Given the description of an element on the screen output the (x, y) to click on. 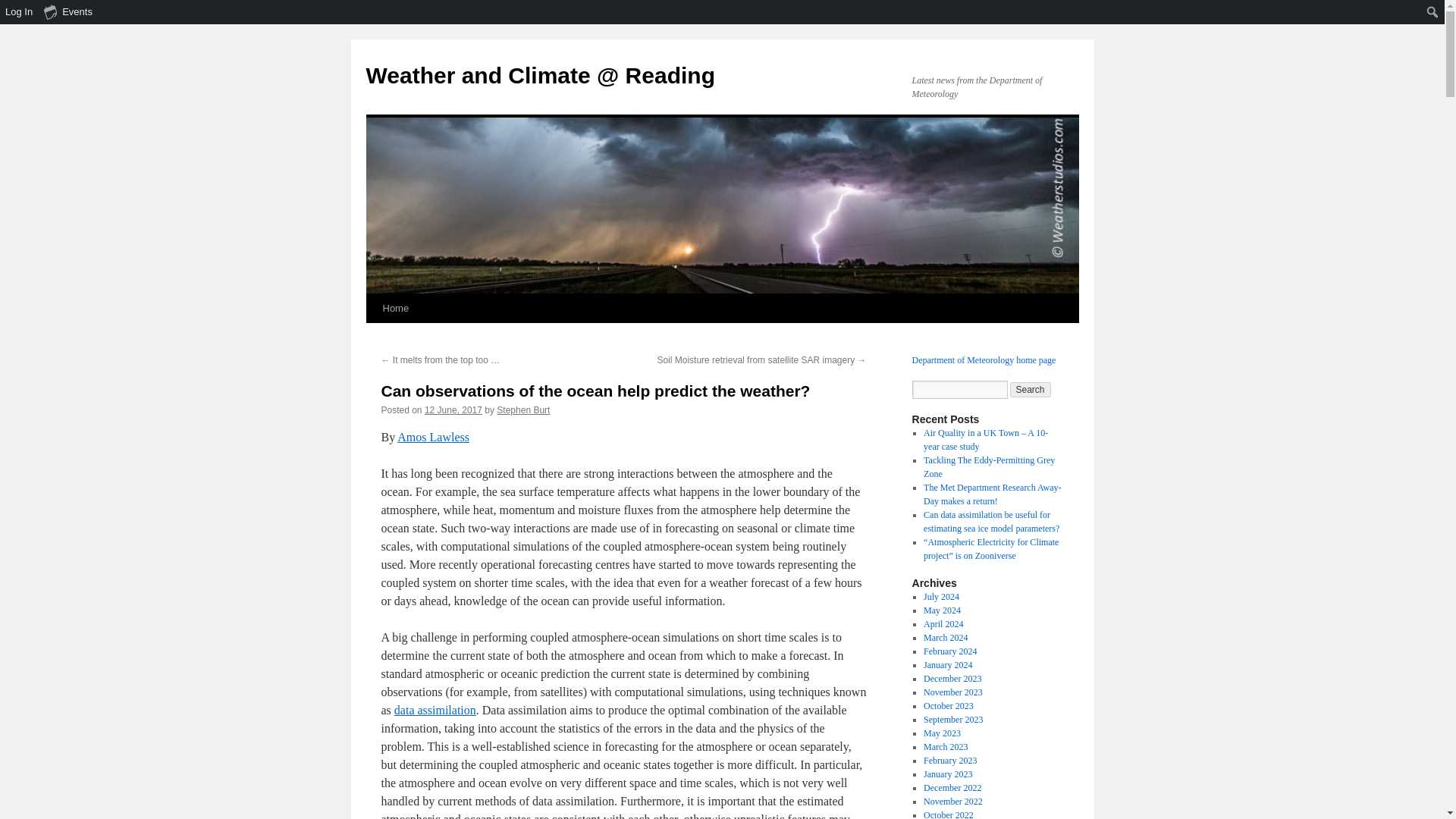
Search (1030, 389)
Events (69, 12)
Tackling The Eddy-Permitting Grey Zone (988, 467)
Department of Meteorology home page (983, 359)
Stephen Burt (523, 409)
data assimilation (435, 709)
12 June, 2017 (453, 409)
Search (1030, 389)
May 2024 (941, 610)
July 2024 (941, 596)
Log In (19, 12)
Home (395, 308)
06:45 (453, 409)
Amos Lawless (432, 436)
